Given the description of an element on the screen output the (x, y) to click on. 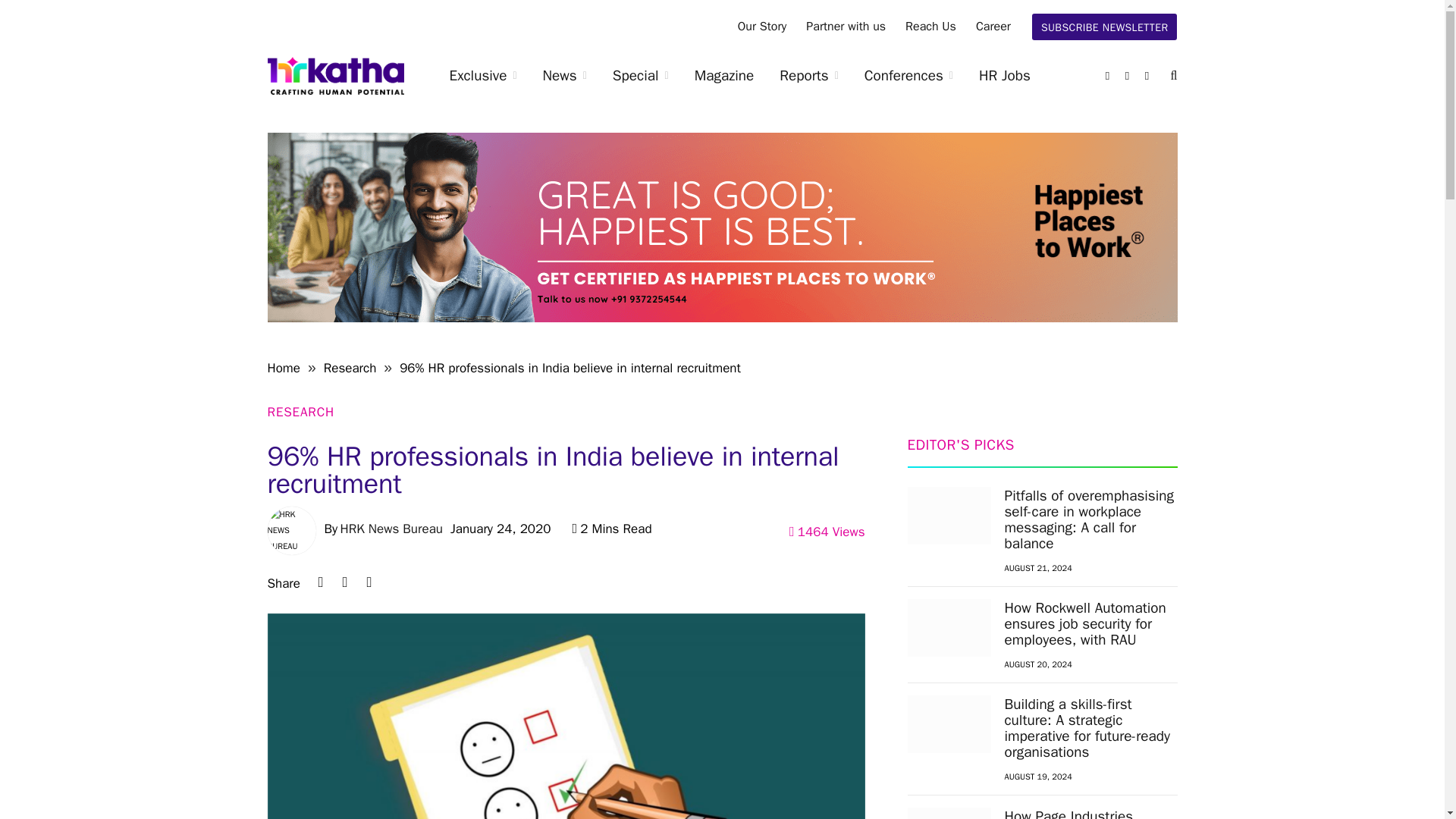
Career (993, 26)
News (564, 75)
Share on Facebook (369, 582)
Partner with us (845, 26)
Special (640, 75)
Our Story (762, 26)
Exclusive (482, 75)
Posts by HRK News Bureau (390, 528)
HR Katha (334, 76)
Share on LinkedIn (319, 582)
